Given the description of an element on the screen output the (x, y) to click on. 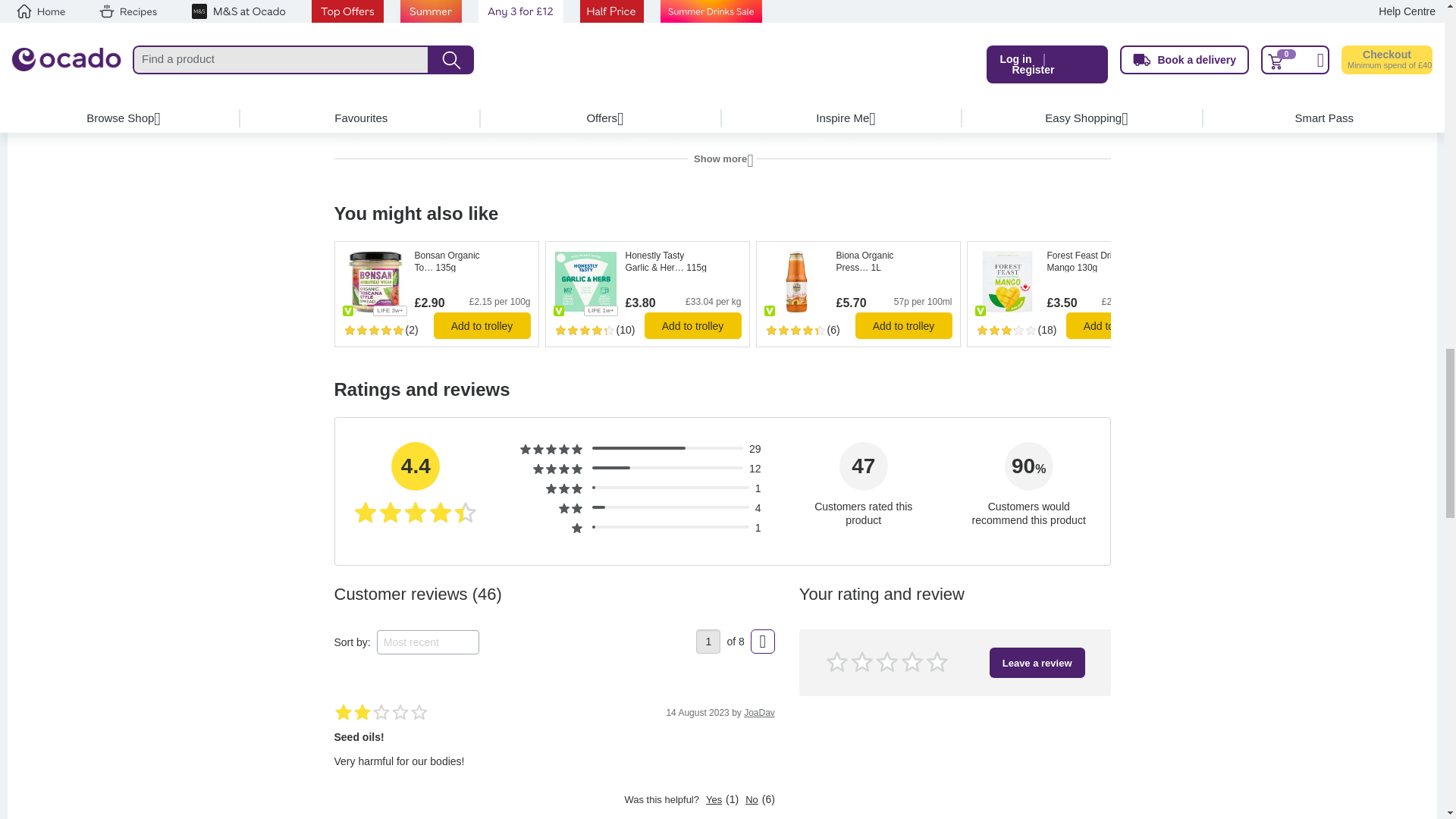
Suitable for vegetarians (347, 310)
1 (707, 641)
